Given the description of an element on the screen output the (x, y) to click on. 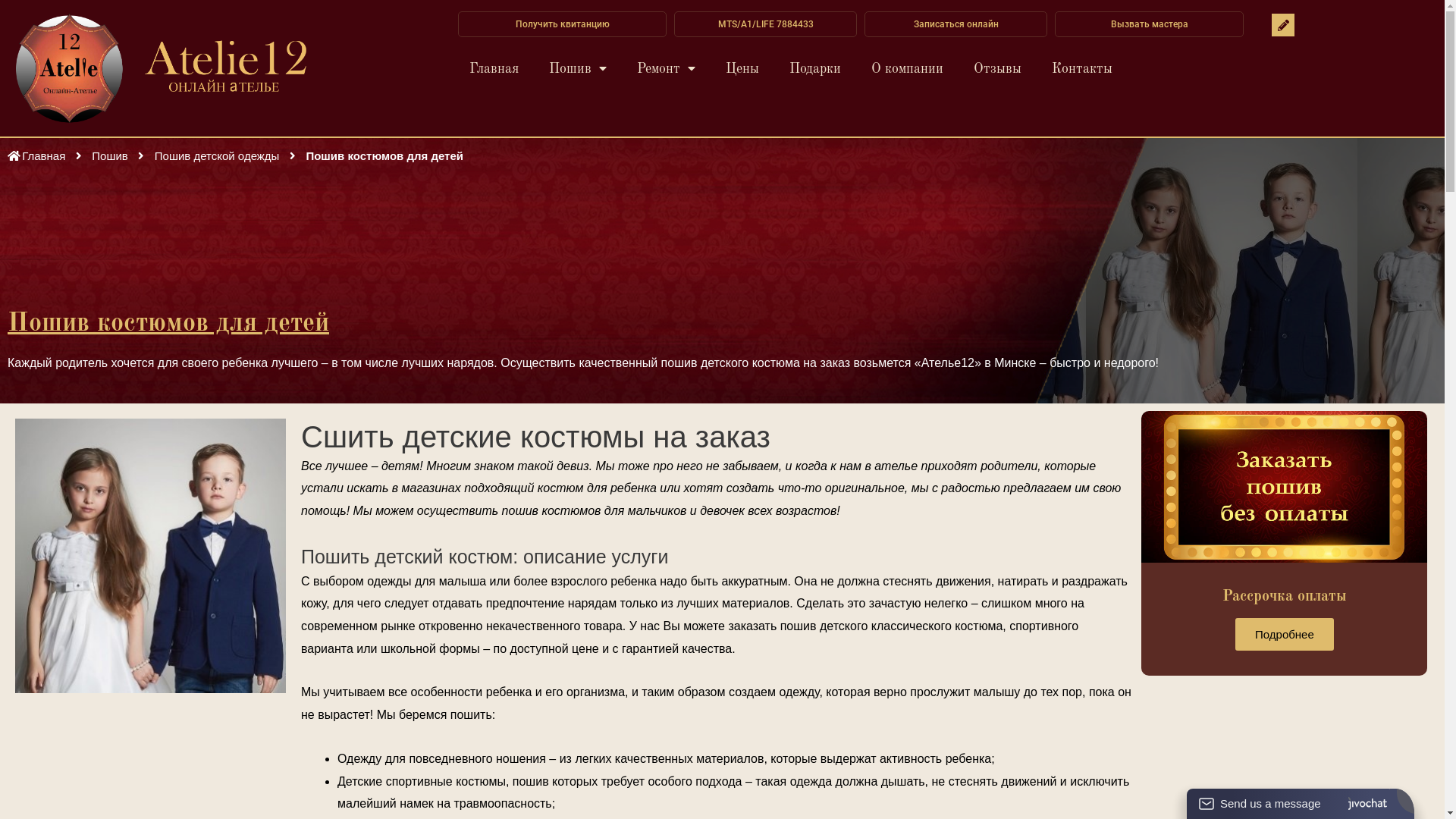
MTS/A1/LIFE 7884433 Element type: text (765, 24)
